Given the description of an element on the screen output the (x, y) to click on. 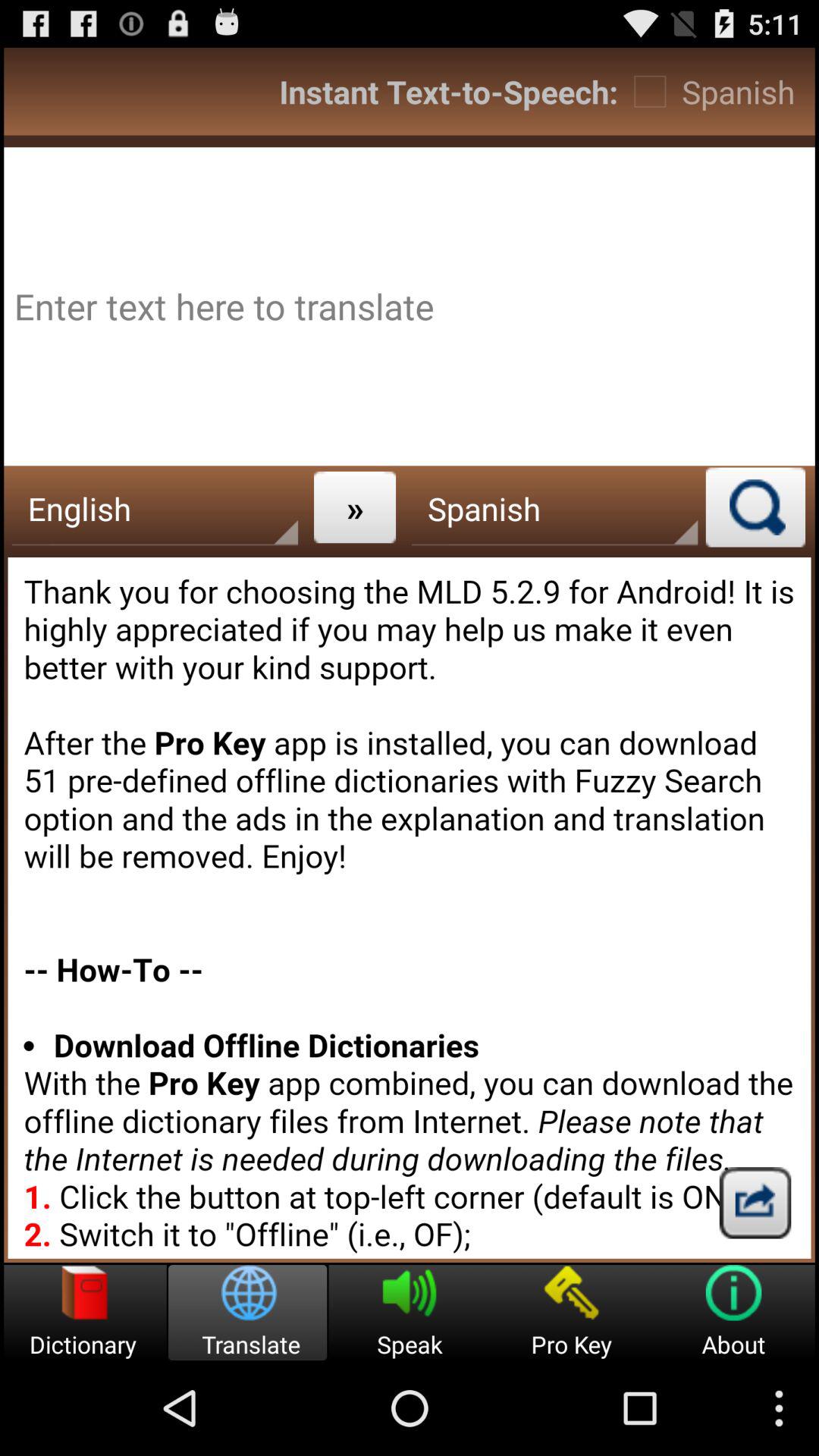
toggle search (755, 507)
